Given the description of an element on the screen output the (x, y) to click on. 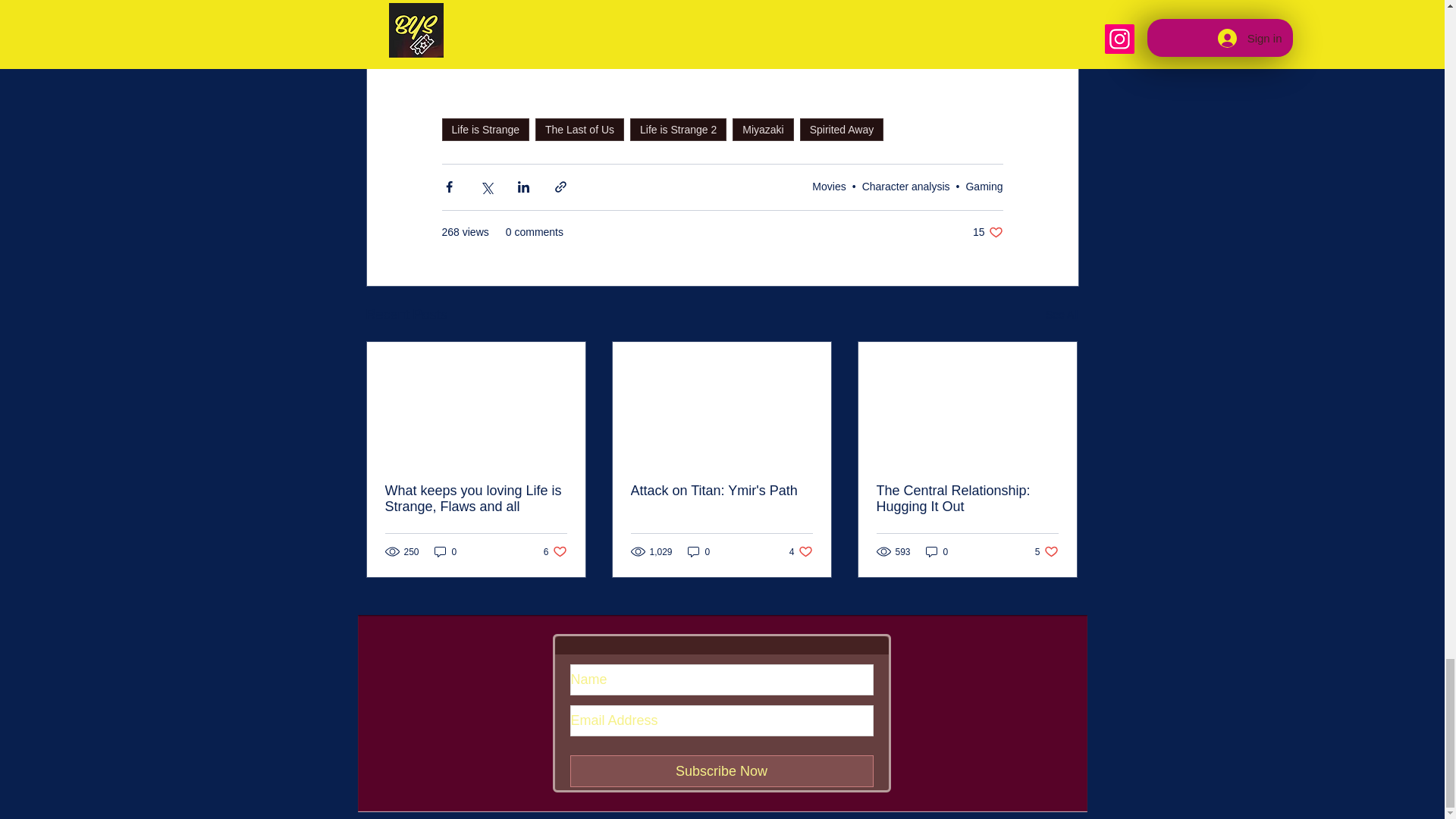
Movies (828, 186)
0 (937, 551)
Attack on Titan: Ymir's Path (721, 490)
Life is Strange (485, 128)
Character analysis (905, 186)
The Last of Us (579, 128)
The Central Relationship: Hugging It Out (967, 499)
Miyazaki (762, 128)
See All (555, 551)
